Given the description of an element on the screen output the (x, y) to click on. 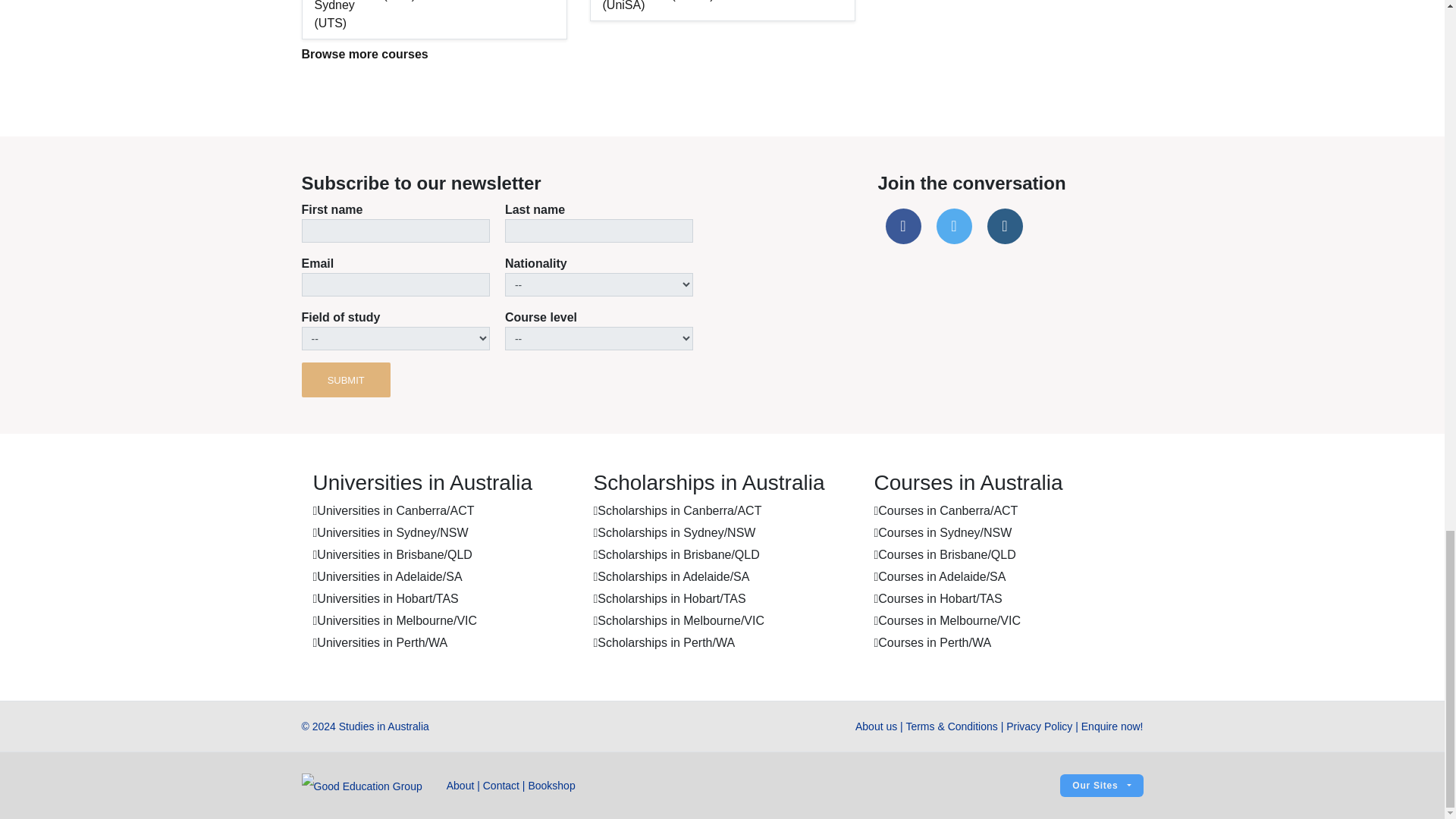
Browse more courses (364, 53)
SUBMIT (345, 379)
